Given the description of an element on the screen output the (x, y) to click on. 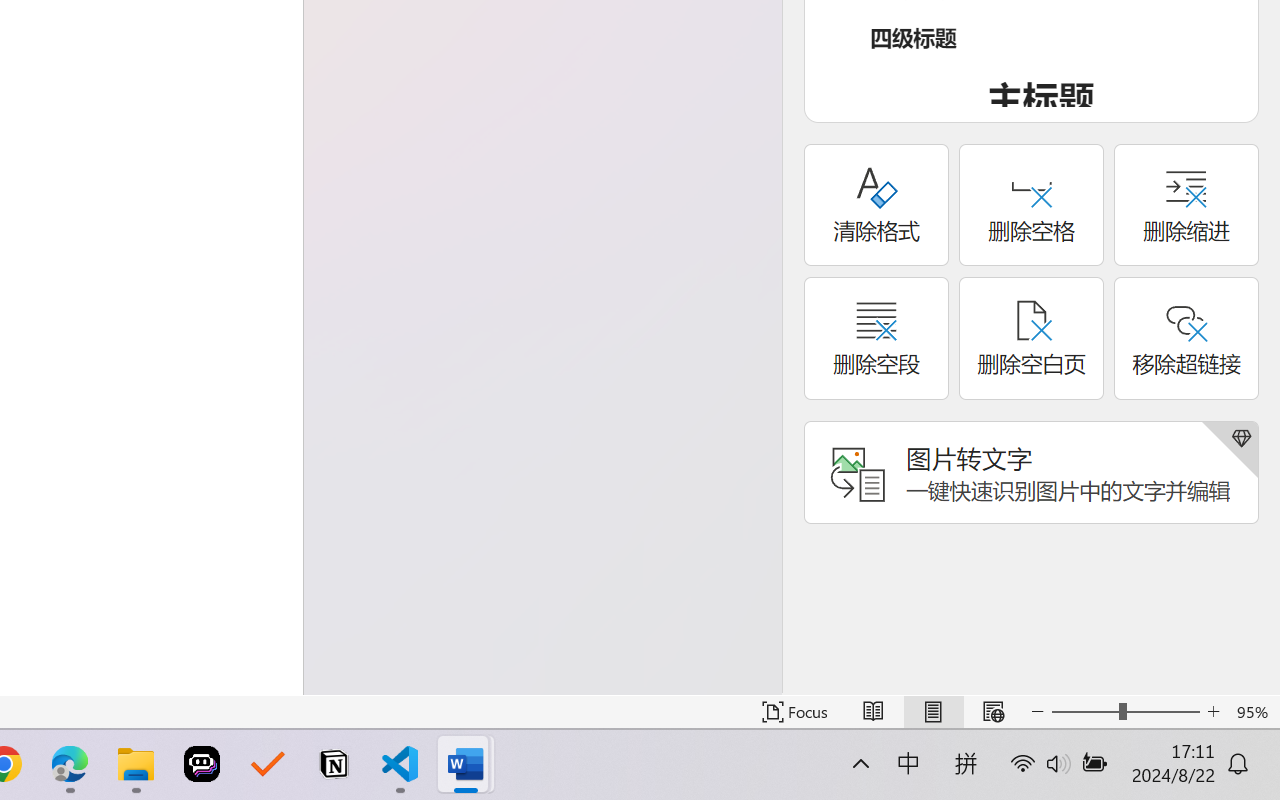
Zoom 95% (1253, 712)
